Given the description of an element on the screen output the (x, y) to click on. 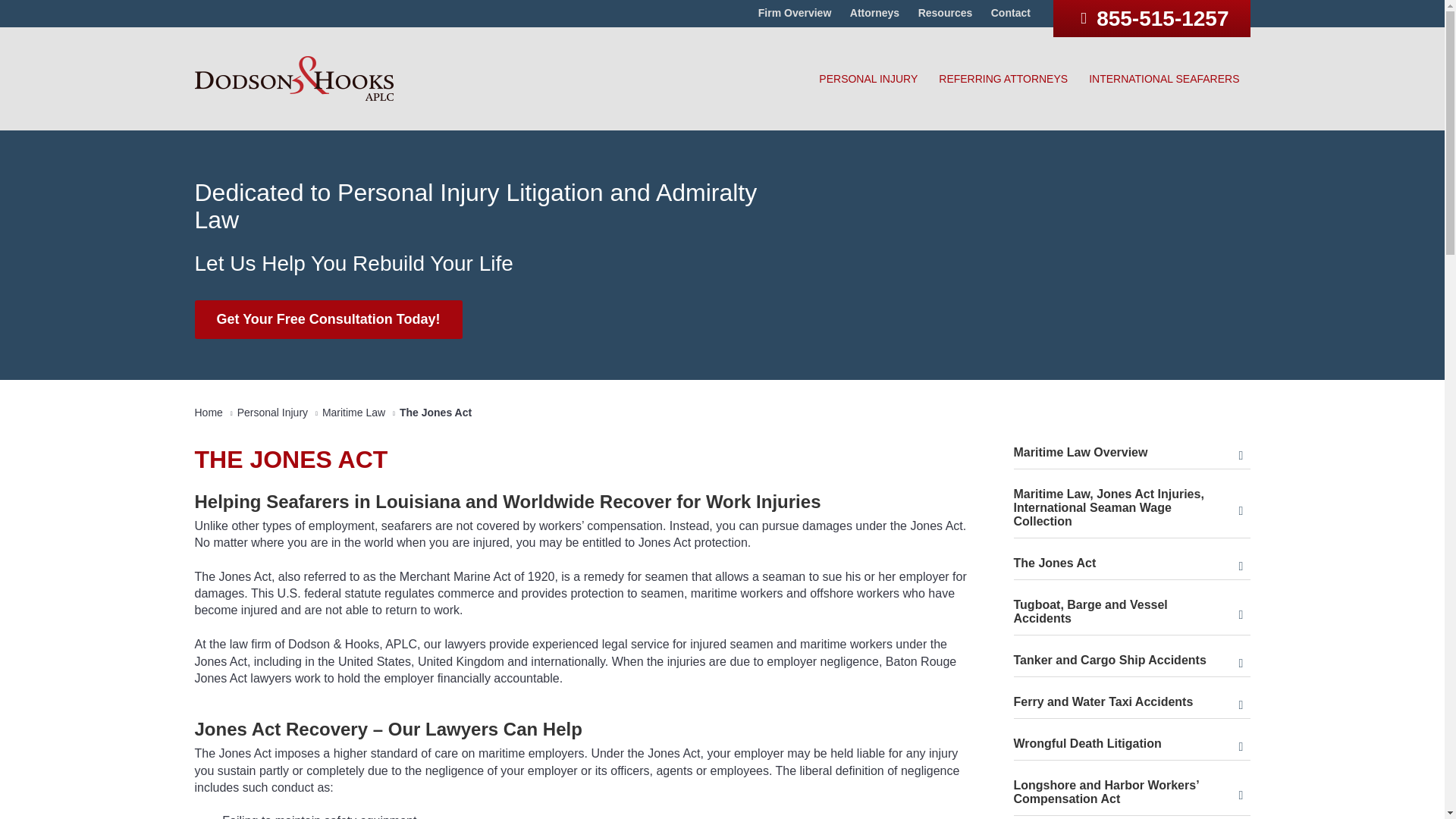
PERSONAL INJURY (868, 79)
REFERRING ATTORNEYS (1003, 79)
Firm Overview (794, 12)
INTERNATIONAL SEAFARERS (1163, 79)
Attorneys (874, 12)
Resources (945, 12)
Contact (1010, 12)
